Given the description of an element on the screen output the (x, y) to click on. 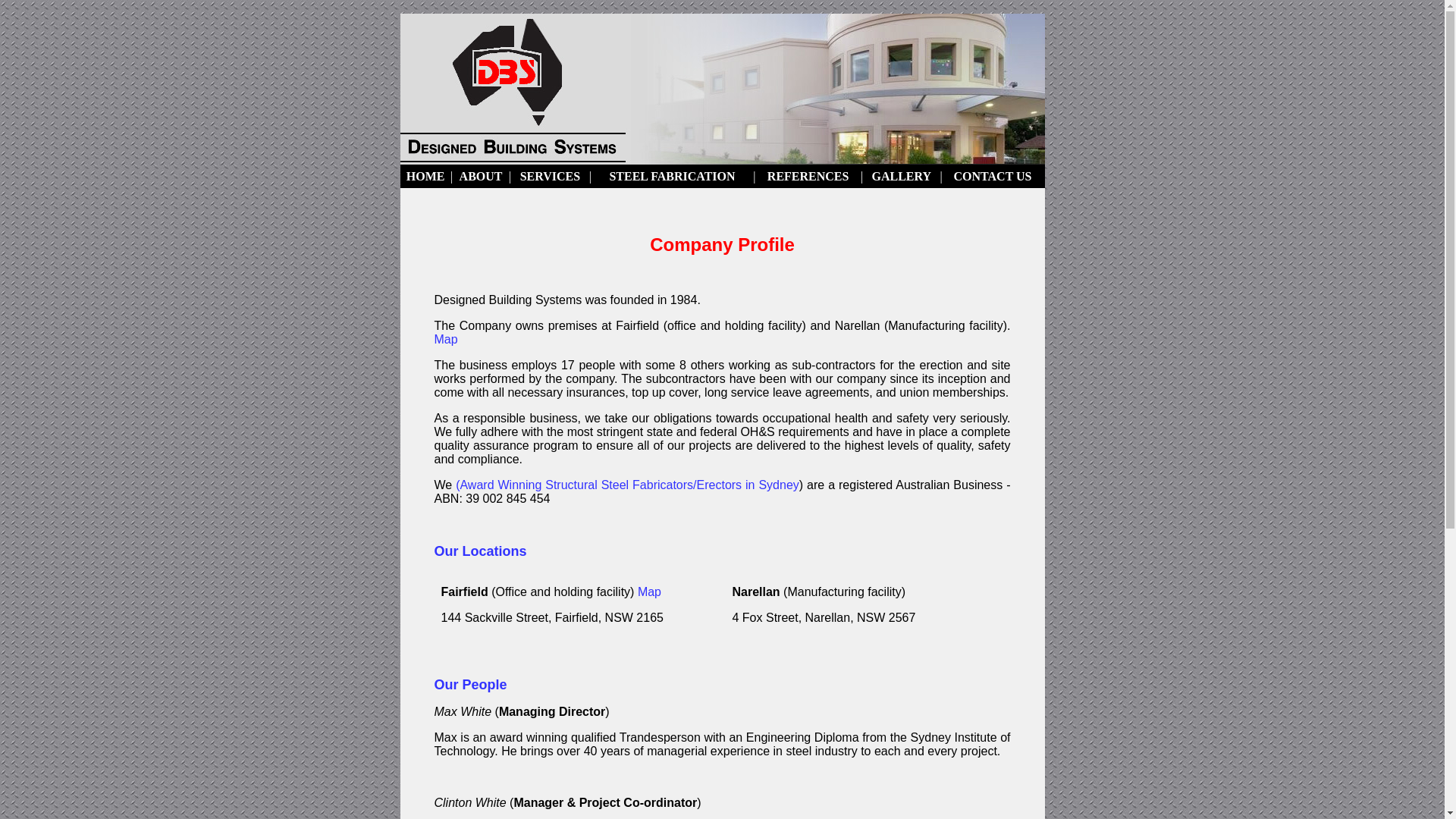
Map Element type: text (649, 591)
SERVICES Element type: text (550, 175)
Map Element type: text (445, 338)
CONTACT US Element type: text (992, 175)
HOME Element type: text (425, 175)
ABOUT Element type: text (480, 175)
STEEL FABRICATION Element type: text (671, 175)
Steel Fabrication Sydney | Steel Fabricators Sydney Element type: hover (722, 89)
GALLERY Element type: text (901, 175)
REFERENCES Element type: text (808, 175)
